Given the description of an element on the screen output the (x, y) to click on. 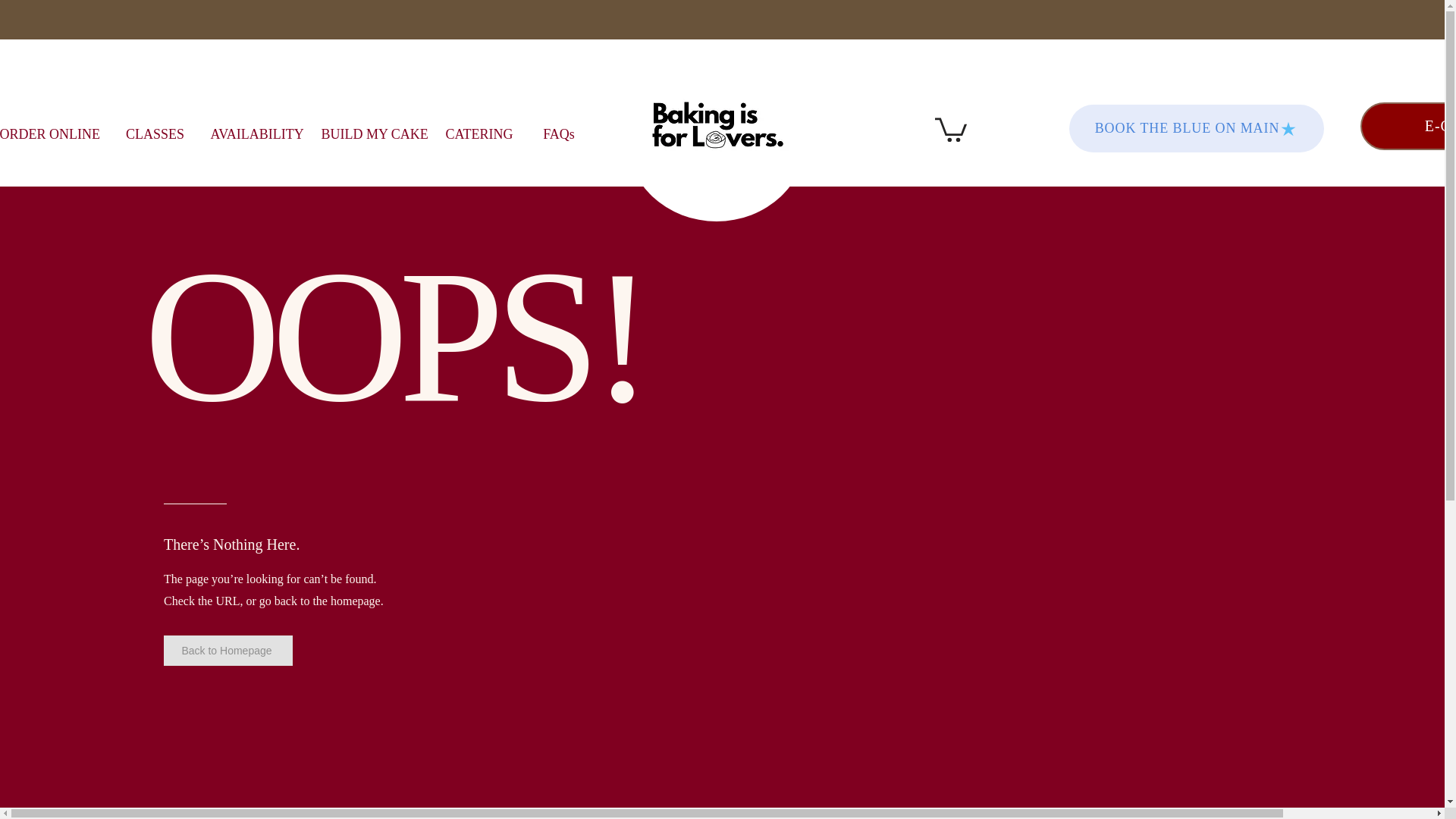
BUILD MY CAKE (369, 134)
AVAILABILITY (253, 134)
BOOK THE BLUE ON MAIN (1195, 128)
CLASSES (154, 134)
Back to Homepage (227, 650)
ORDER ONLINE (55, 134)
CATERING (479, 134)
FAQs (558, 134)
